Given the description of an element on the screen output the (x, y) to click on. 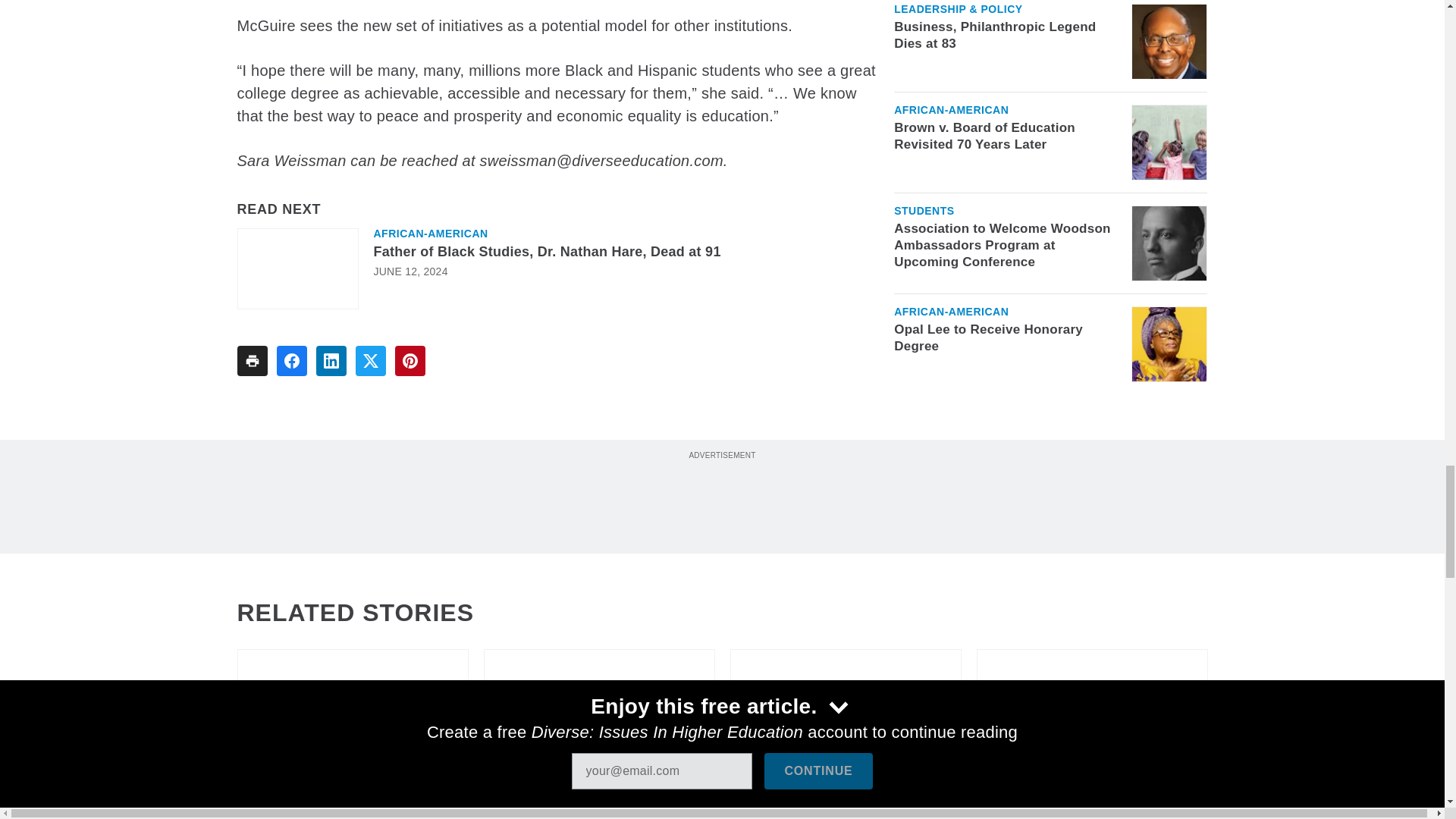
Share To print (250, 360)
